Given the description of an element on the screen output the (x, y) to click on. 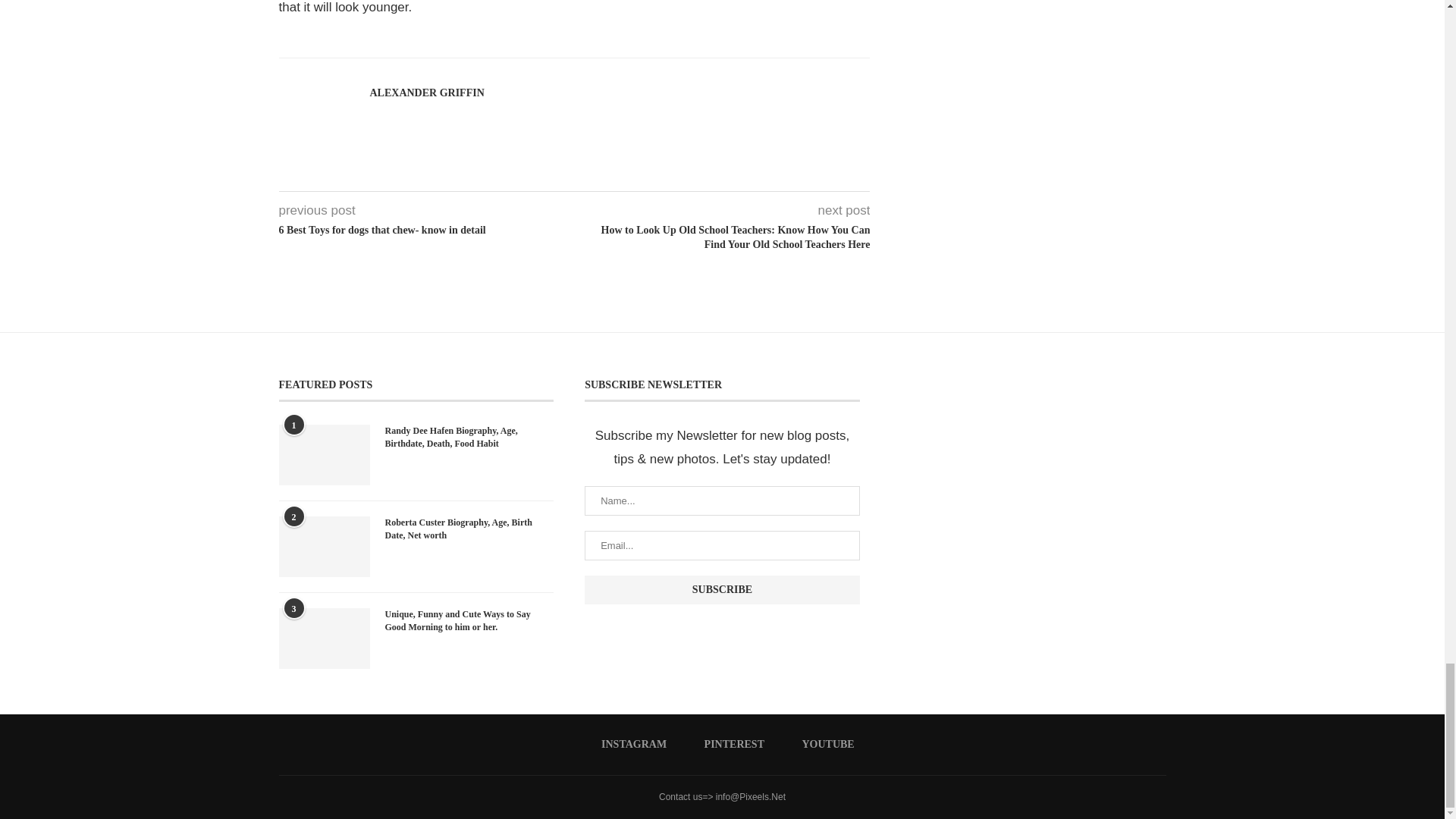
Randy Dee Hafen Biography, Age, Birthdate, Death, Food Habit (469, 437)
Roberta Custer Biography, Age, Birth Date, Net worth (469, 529)
INSTAGRAM (627, 744)
6 Best Toys for dogs that chew- know in detail (427, 230)
Roberta Custer Biography, Age, Birth Date, Net worth (324, 546)
Author Alexander Griffin (426, 92)
Subscribe (722, 589)
Randy Dee Hafen Biography, Age, Birthdate, Death, Food Habit (324, 455)
Subscribe (722, 589)
Roberta Custer Biography, Age, Birth Date, Net worth (469, 529)
ALEXANDER GRIFFIN (426, 92)
